Given the description of an element on the screen output the (x, y) to click on. 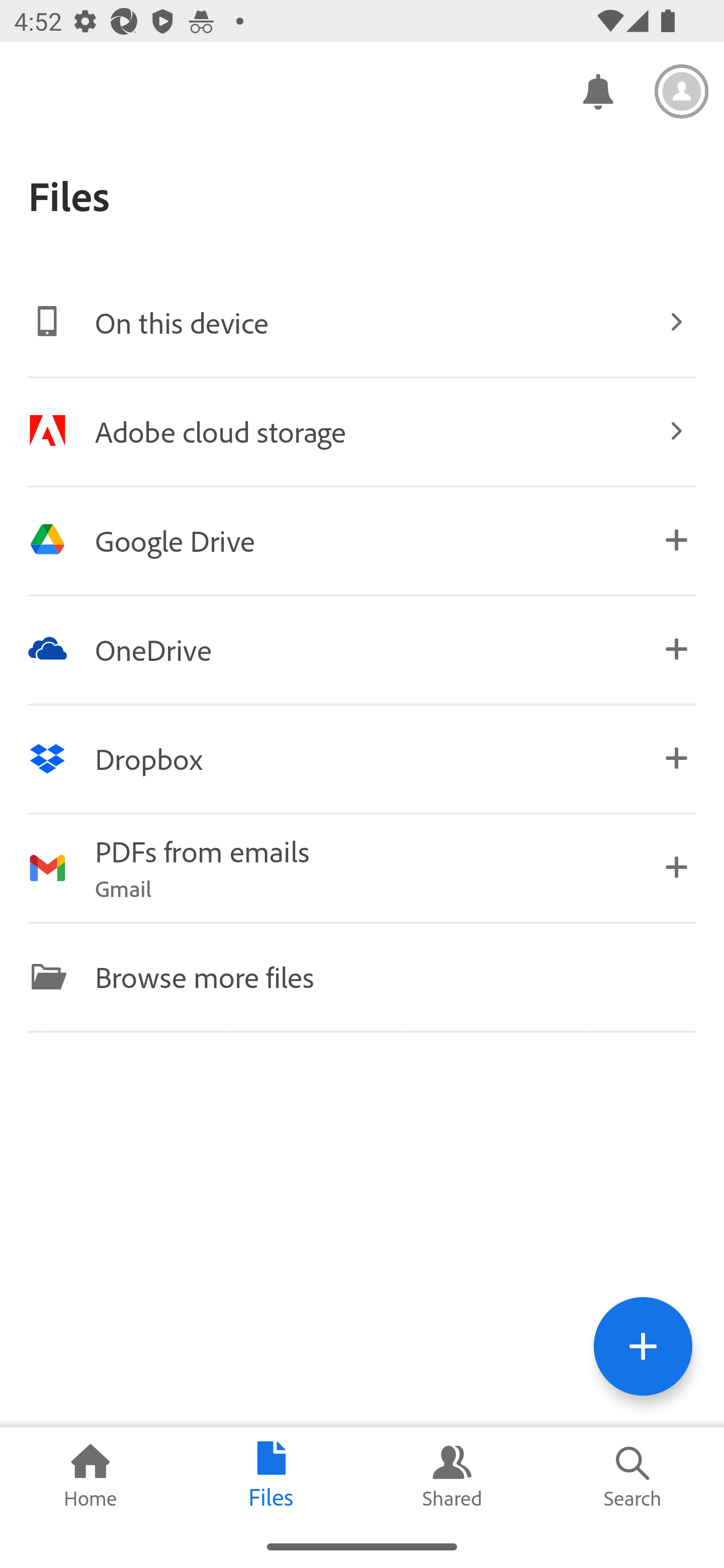
Notifications (597, 90)
Settings (681, 91)
Image On this device (362, 322)
Image Adobe cloud storage (362, 431)
Image Google Drive (362, 540)
Image OneDrive (362, 649)
Image Dropbox (362, 758)
Image PDFs from emails Gmail (362, 866)
Image Browse more files (362, 975)
Tools (642, 1345)
Home (90, 1475)
Files (271, 1475)
Shared (452, 1475)
Search (633, 1475)
